Given the description of an element on the screen output the (x, y) to click on. 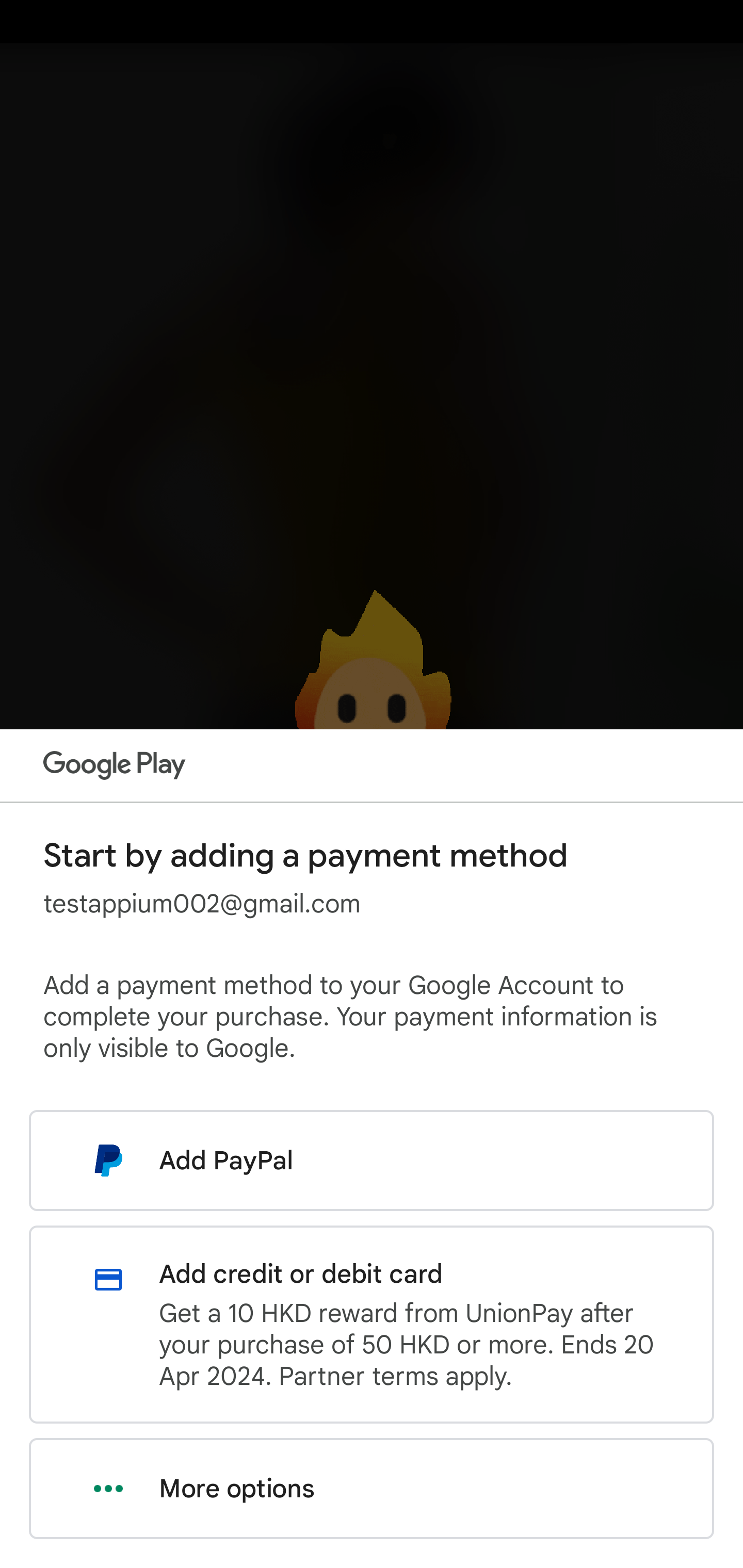
Add PayPal (371, 1160)
More options (371, 1488)
